Given the description of an element on the screen output the (x, y) to click on. 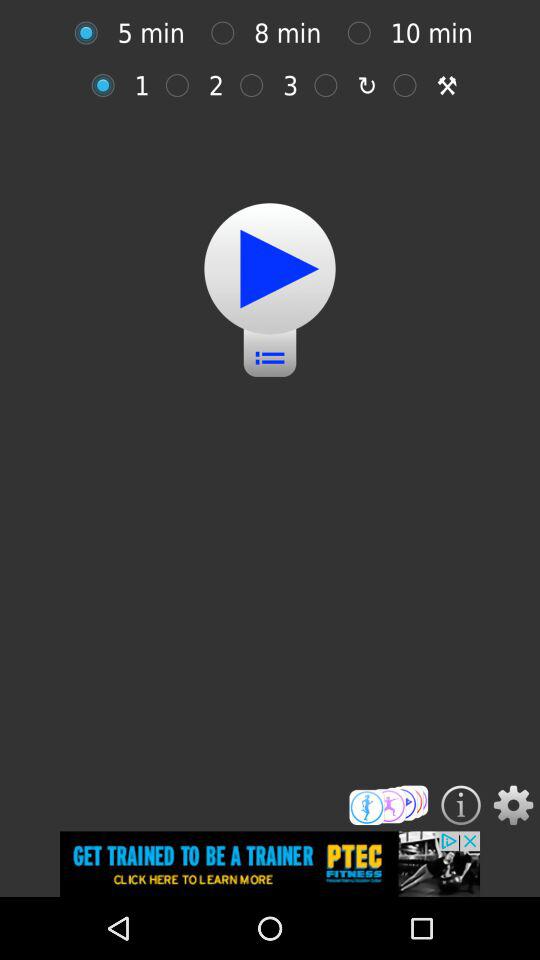
select repetitions (108, 85)
